Given the description of an element on the screen output the (x, y) to click on. 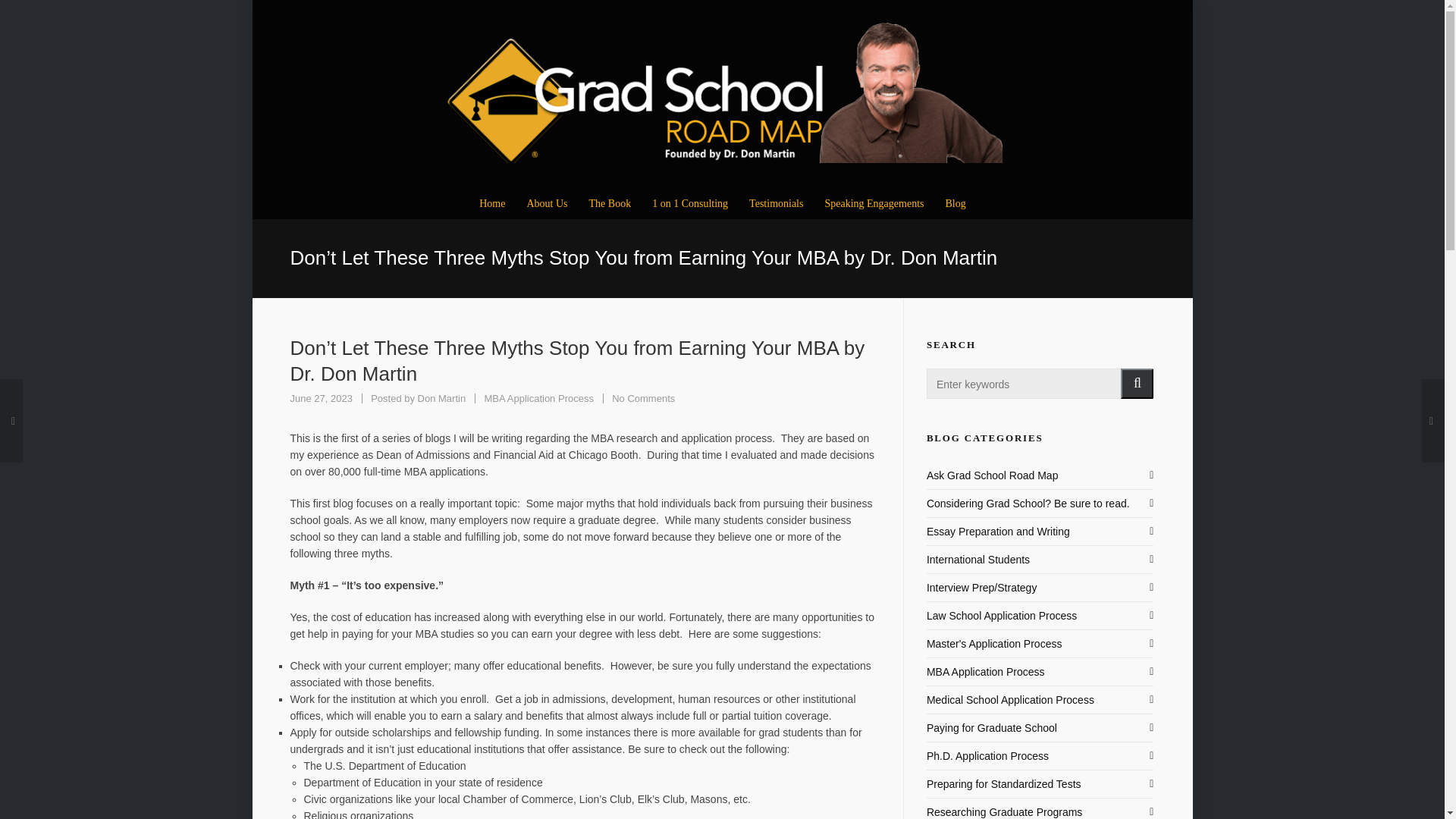
No Comments (643, 398)
Testimonials (775, 202)
Speaking Engagements (873, 202)
Blog (955, 202)
Home (491, 202)
About Us (546, 202)
Don Martin (441, 398)
No Comments (441, 398)
1 on 1 Consulting (643, 398)
Ask Grad School Road Map (690, 202)
MBA Application Process (992, 475)
The Book (538, 398)
